Given the description of an element on the screen output the (x, y) to click on. 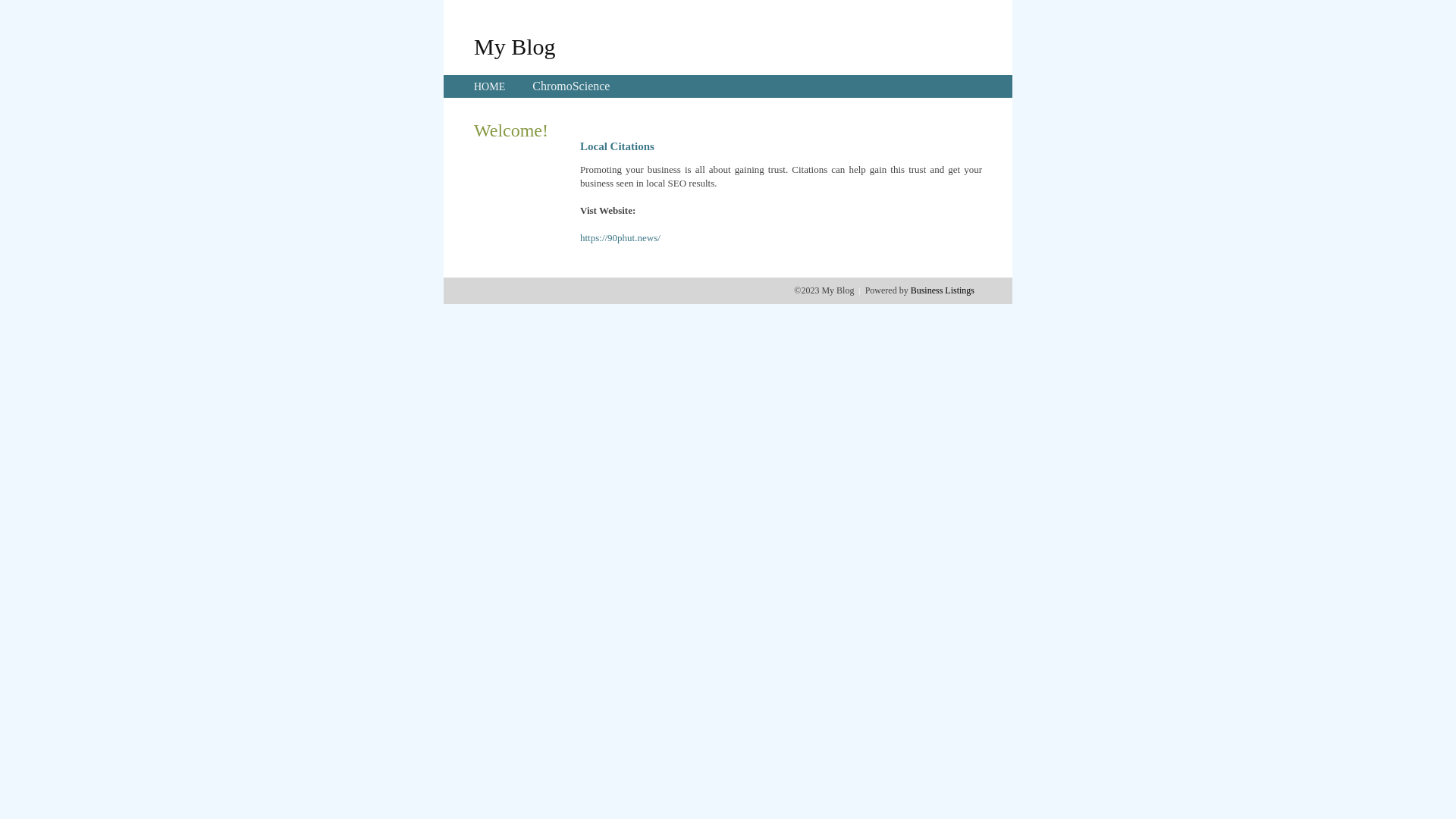
My Blog Element type: text (514, 46)
HOME Element type: text (489, 86)
ChromoScience Element type: text (570, 85)
Business Listings Element type: text (942, 290)
https://90phut.news/ Element type: text (620, 237)
